Given the description of an element on the screen output the (x, y) to click on. 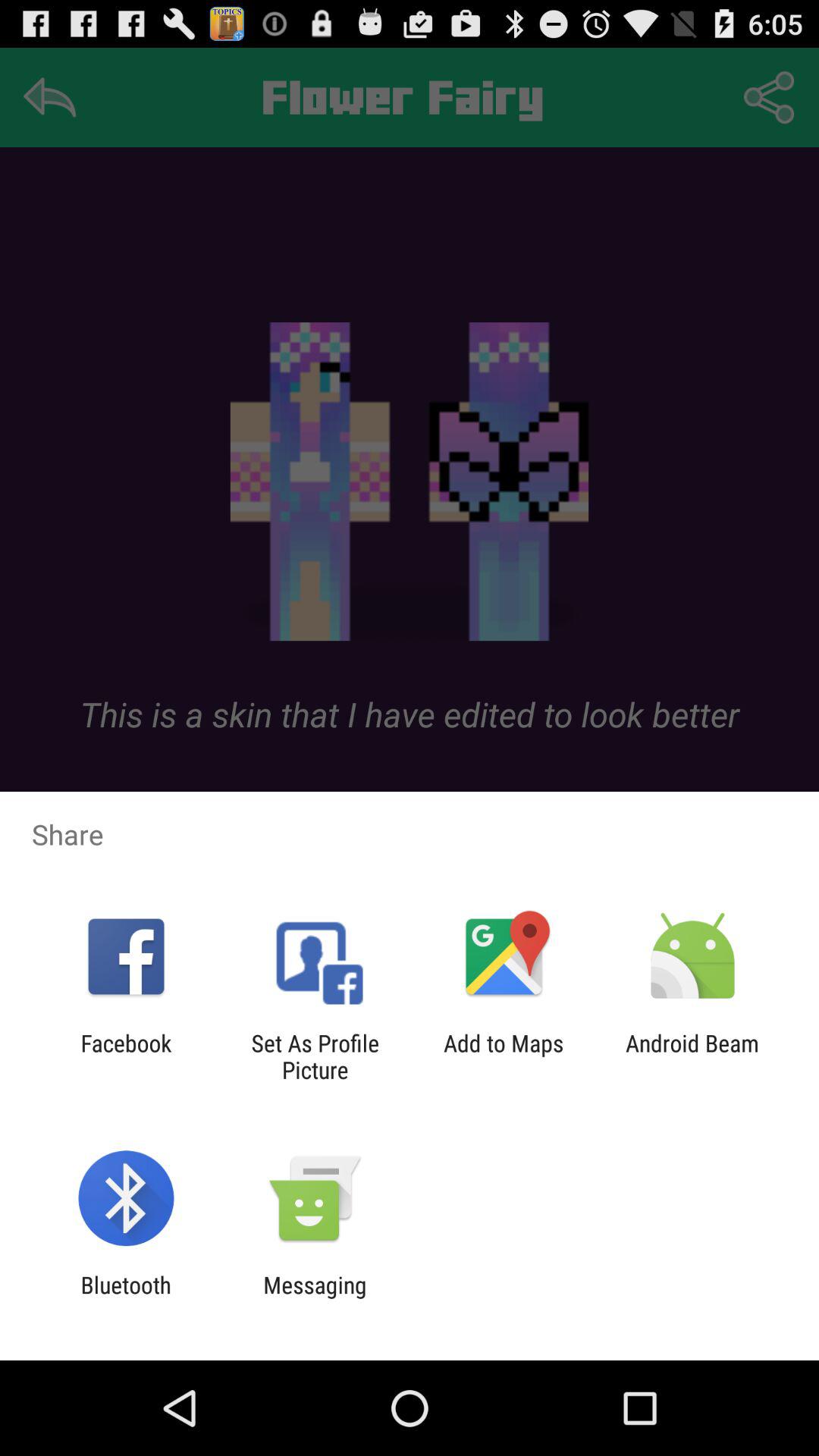
open the icon to the left of the android beam icon (503, 1056)
